Given the description of an element on the screen output the (x, y) to click on. 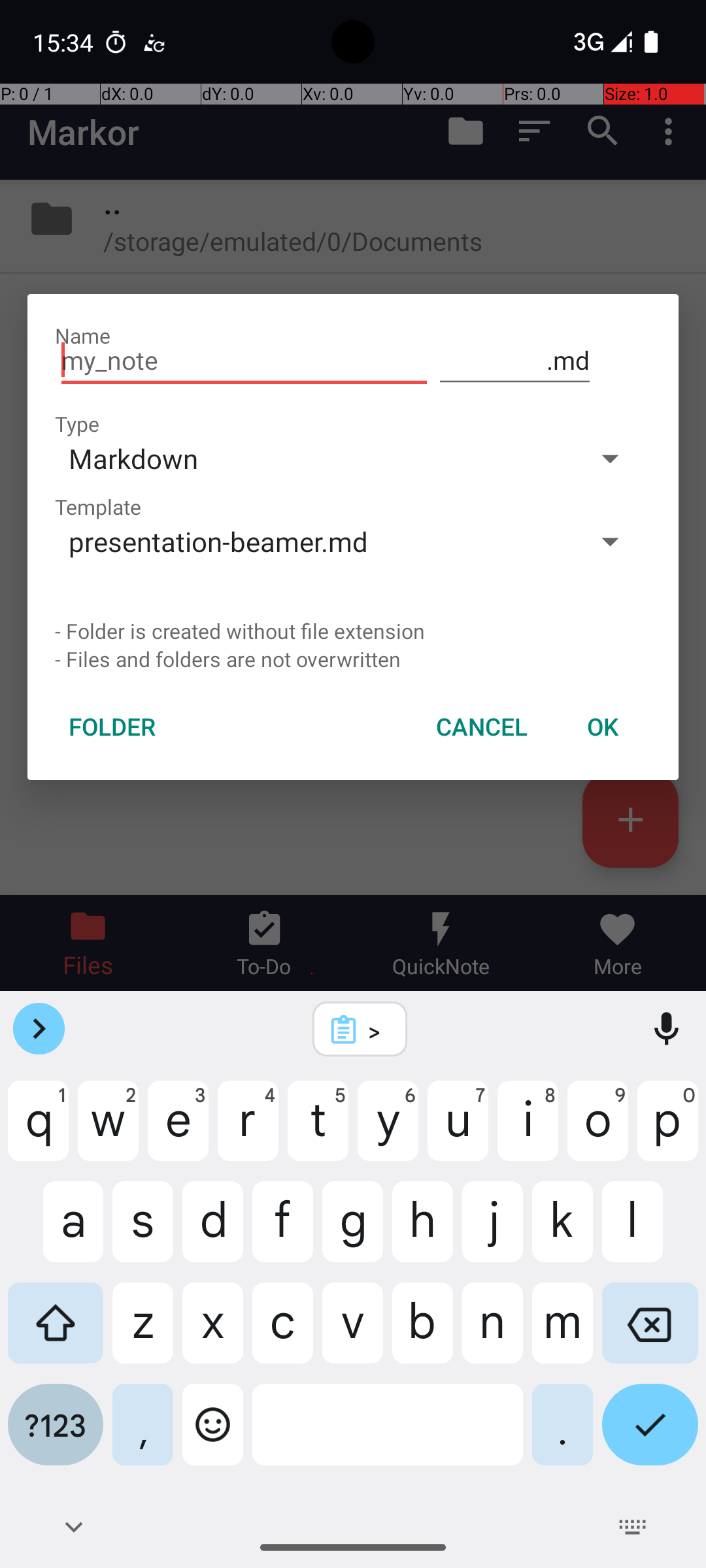
>  Element type: android.widget.TextView (377, 1029)
